Given the description of an element on the screen output the (x, y) to click on. 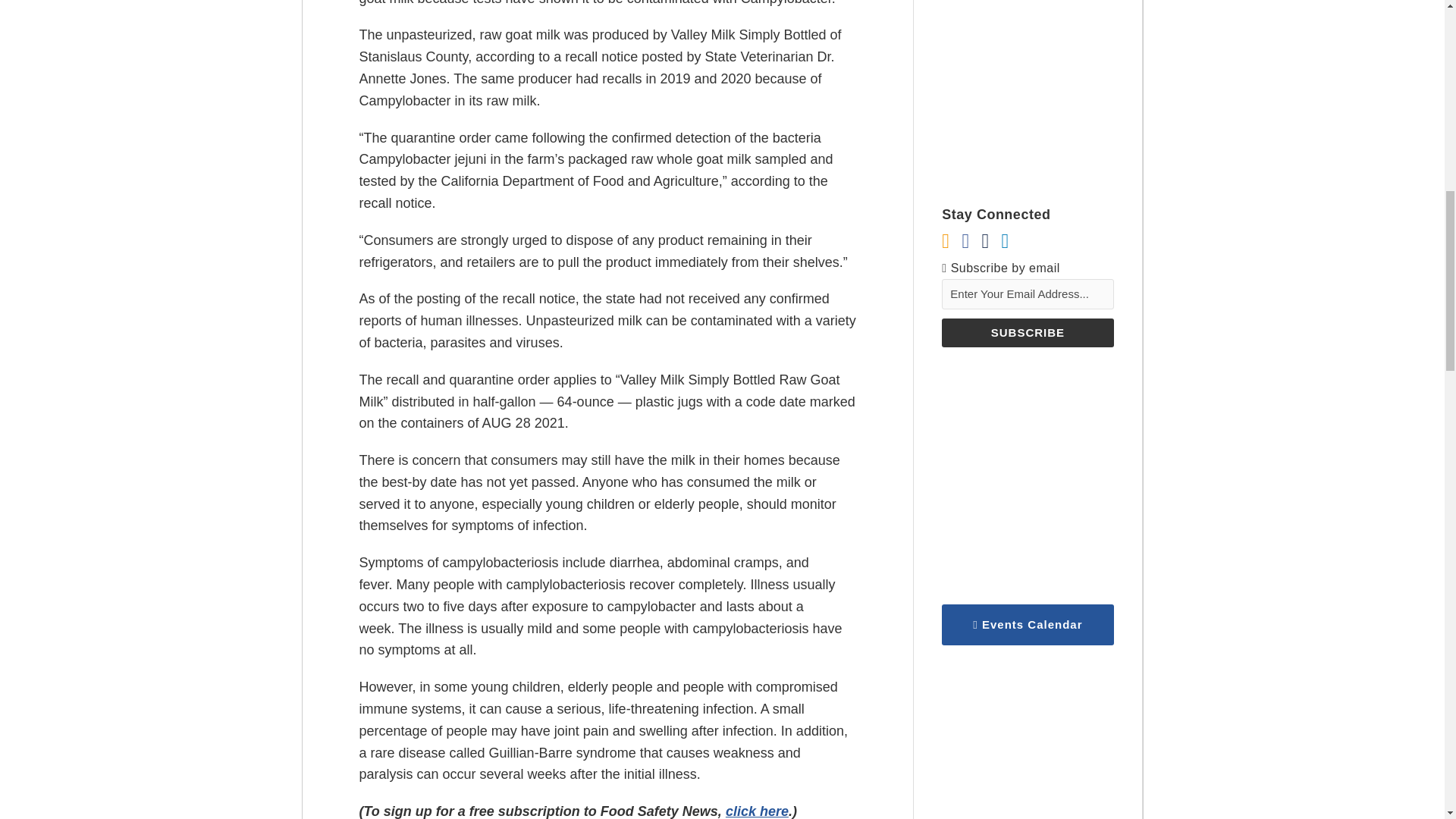
Subscribe (1027, 332)
Events Calendar (1027, 624)
Subscribe (1027, 332)
click here (757, 811)
